Given the description of an element on the screen output the (x, y) to click on. 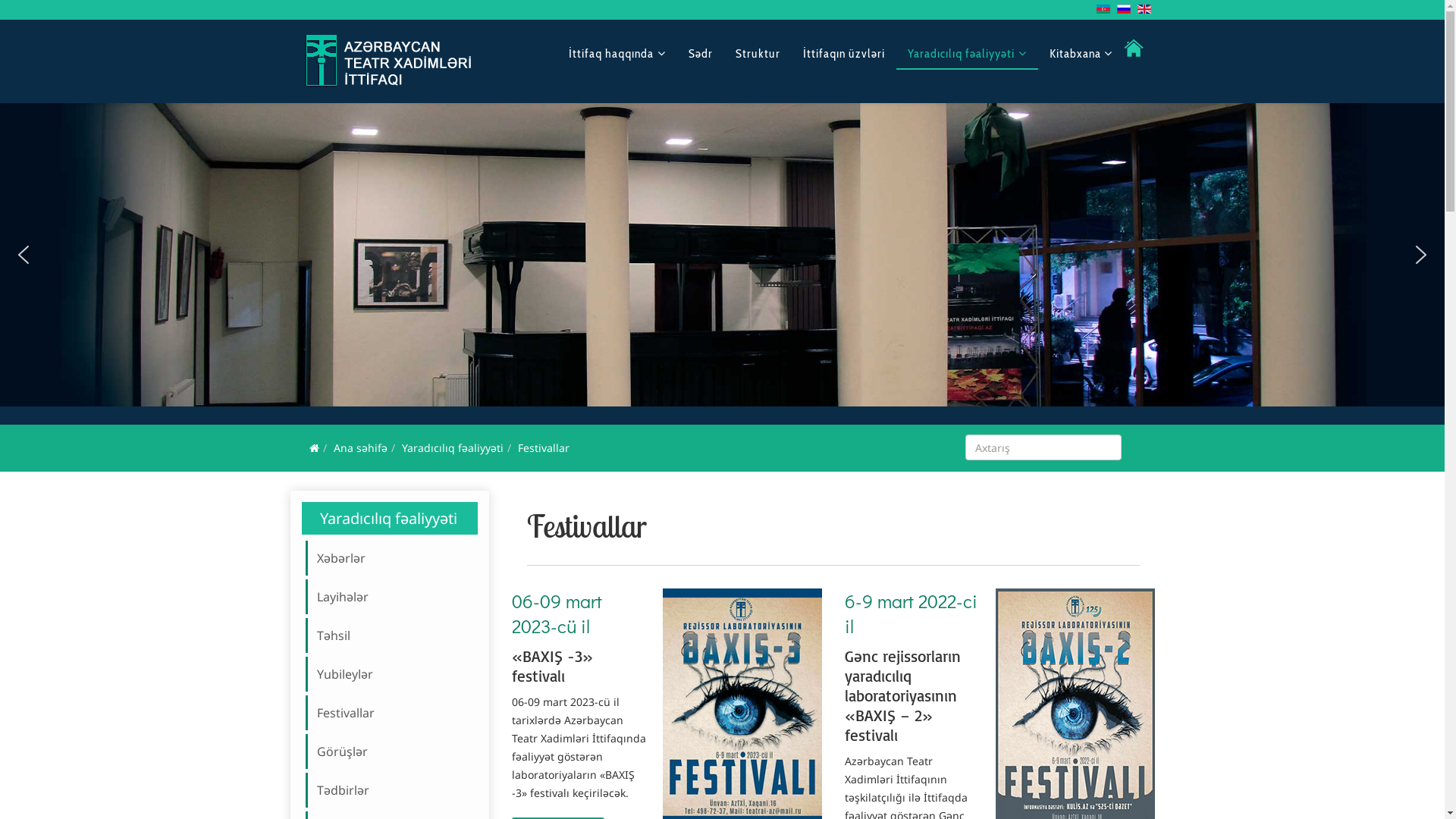
Azerbaijan (az-AZ) Element type: hover (1103, 8)
Kitabxana Element type: text (1080, 53)
Festivallar Element type: text (394, 712)
Russian (Russia) Element type: hover (1122, 8)
Struktur Element type: text (756, 53)
English (United Kingdom) Element type: hover (1144, 8)
